Given the description of an element on the screen output the (x, y) to click on. 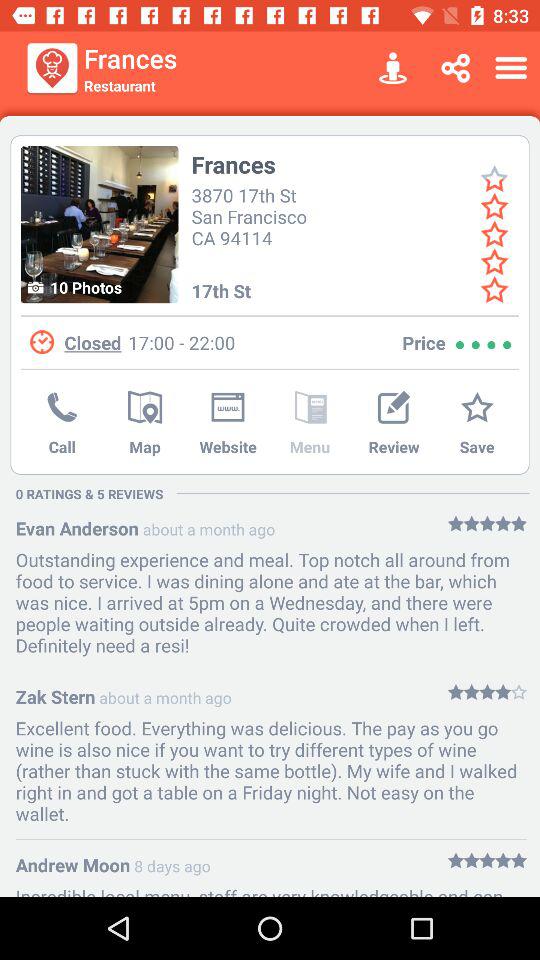
tap item next to frances icon (52, 67)
